Given the description of an element on the screen output the (x, y) to click on. 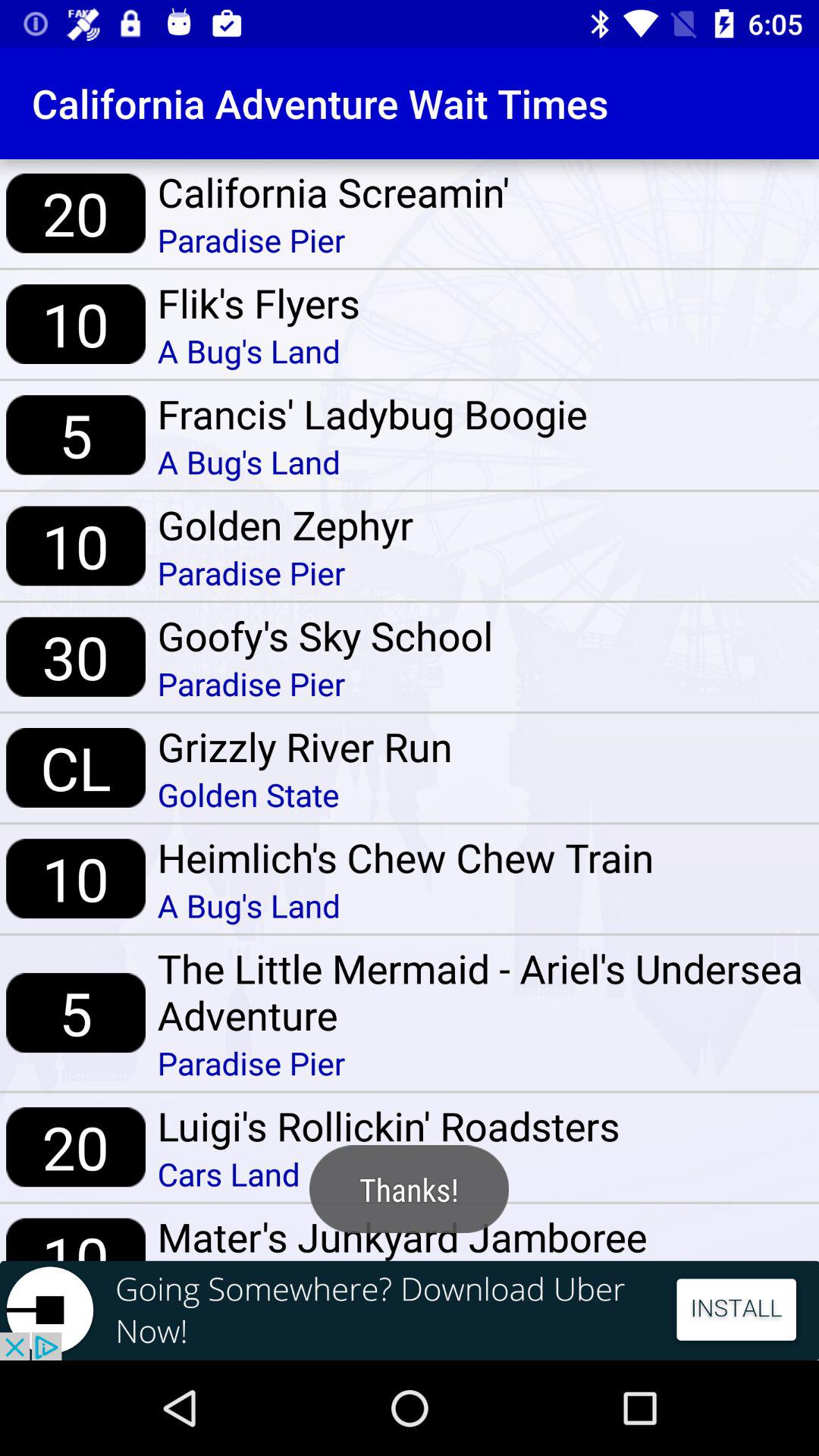
flip to the luigi s rollickin (388, 1125)
